Given the description of an element on the screen output the (x, y) to click on. 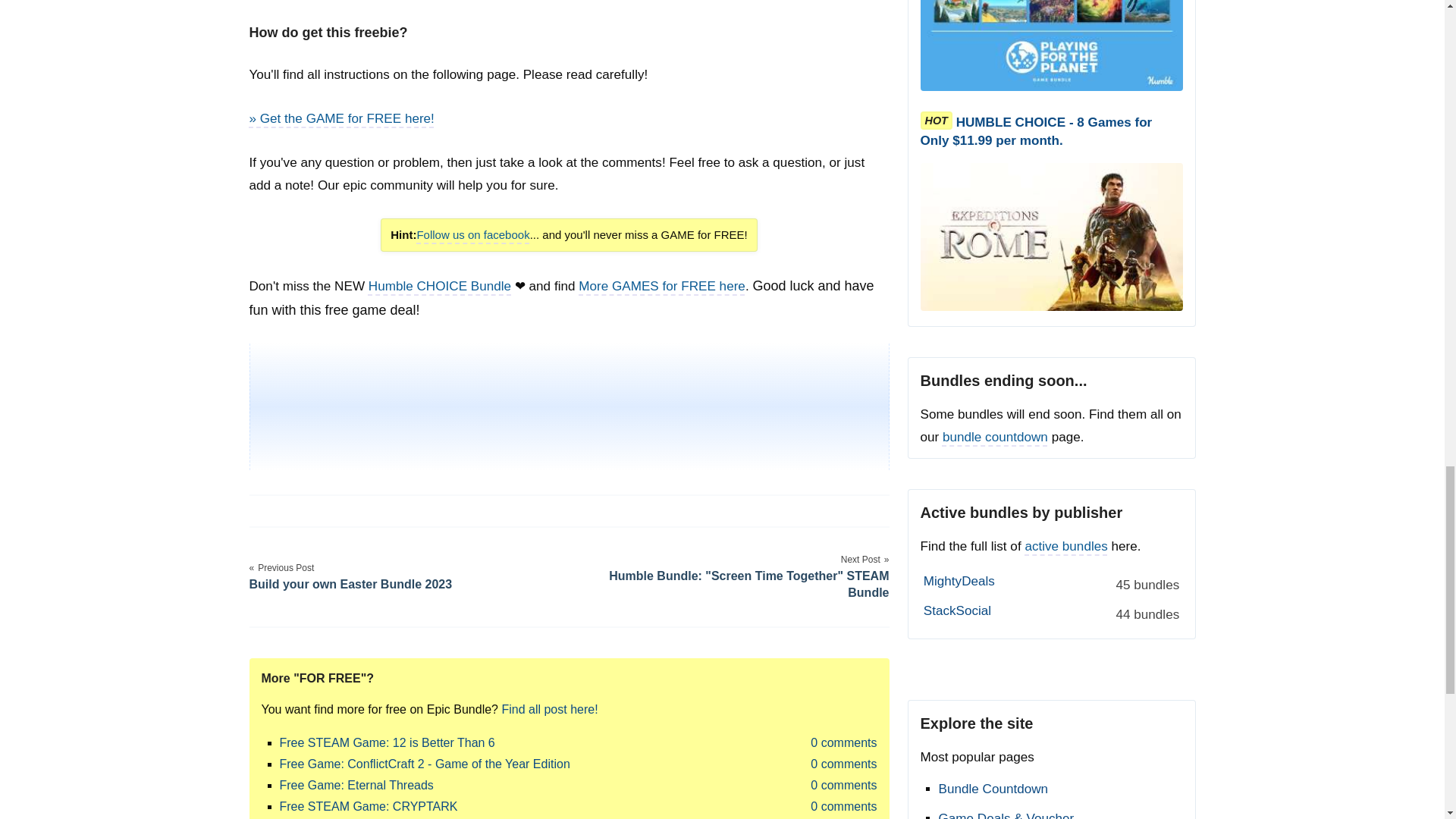
More GAMES for FREE here (661, 286)
Humble CHOICE Bundle (439, 286)
Follow us on facebook (472, 234)
